Given the description of an element on the screen output the (x, y) to click on. 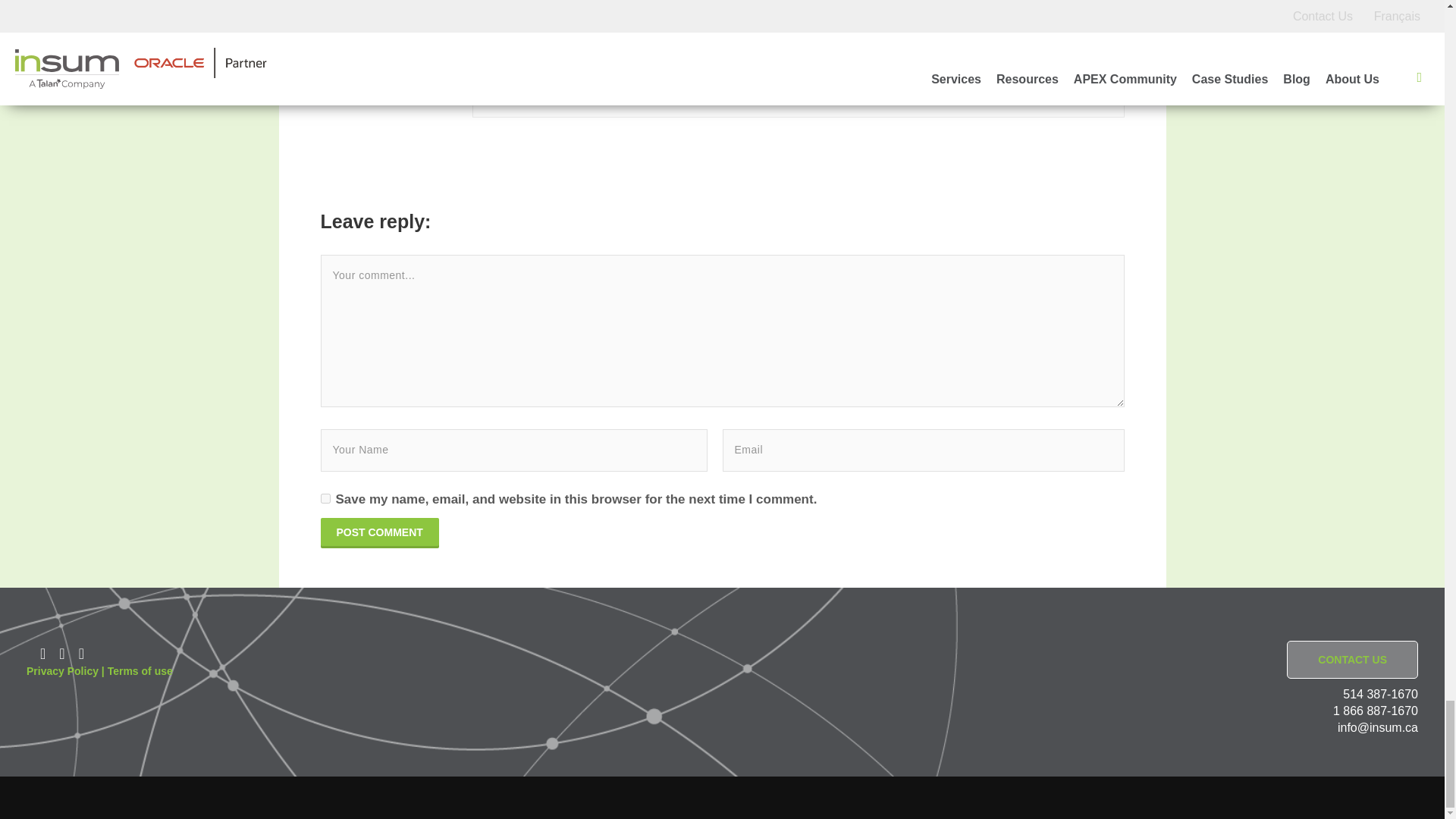
yes (325, 498)
Post Comment (379, 532)
